Given the description of an element on the screen output the (x, y) to click on. 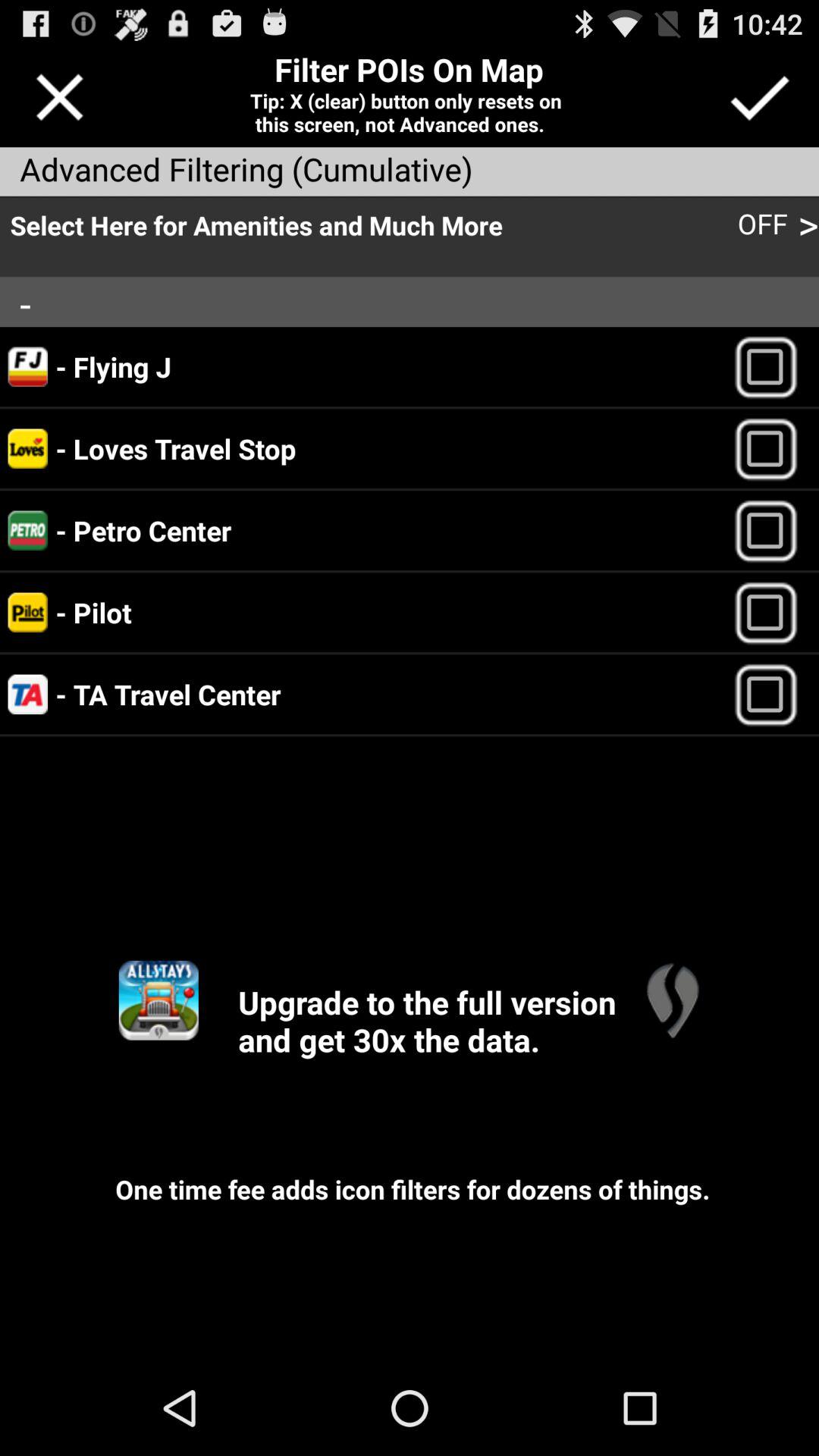
confirm (759, 97)
